Given the description of an element on the screen output the (x, y) to click on. 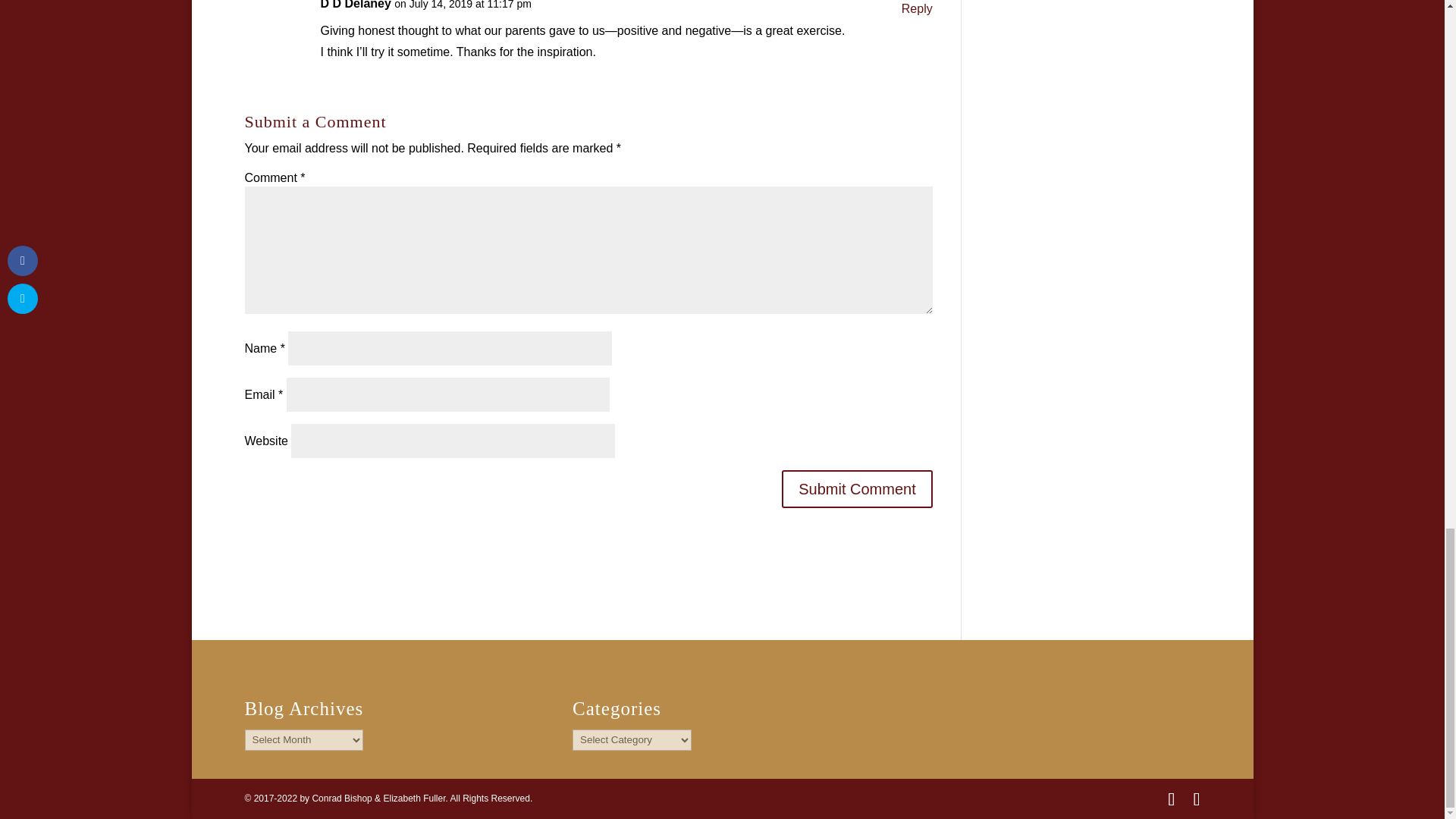
Submit Comment (857, 488)
Reply (917, 9)
Submit Comment (857, 488)
